Given the description of an element on the screen output the (x, y) to click on. 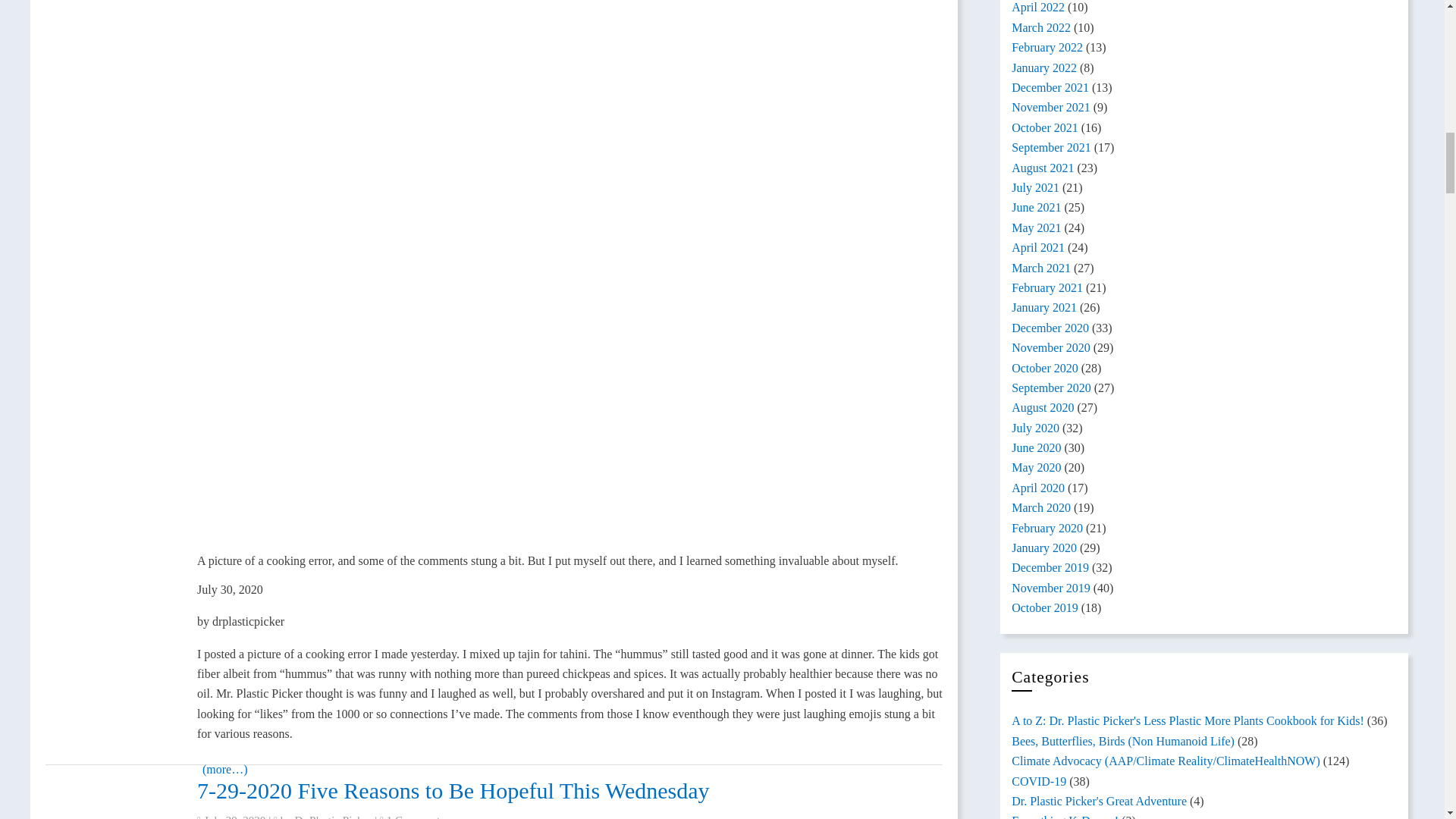
7-29-2020 Five Reasons to Be Hopeful This Wednesday (453, 790)
1 Comment (413, 816)
Dr Plastic Picker (333, 816)
